Given the description of an element on the screen output the (x, y) to click on. 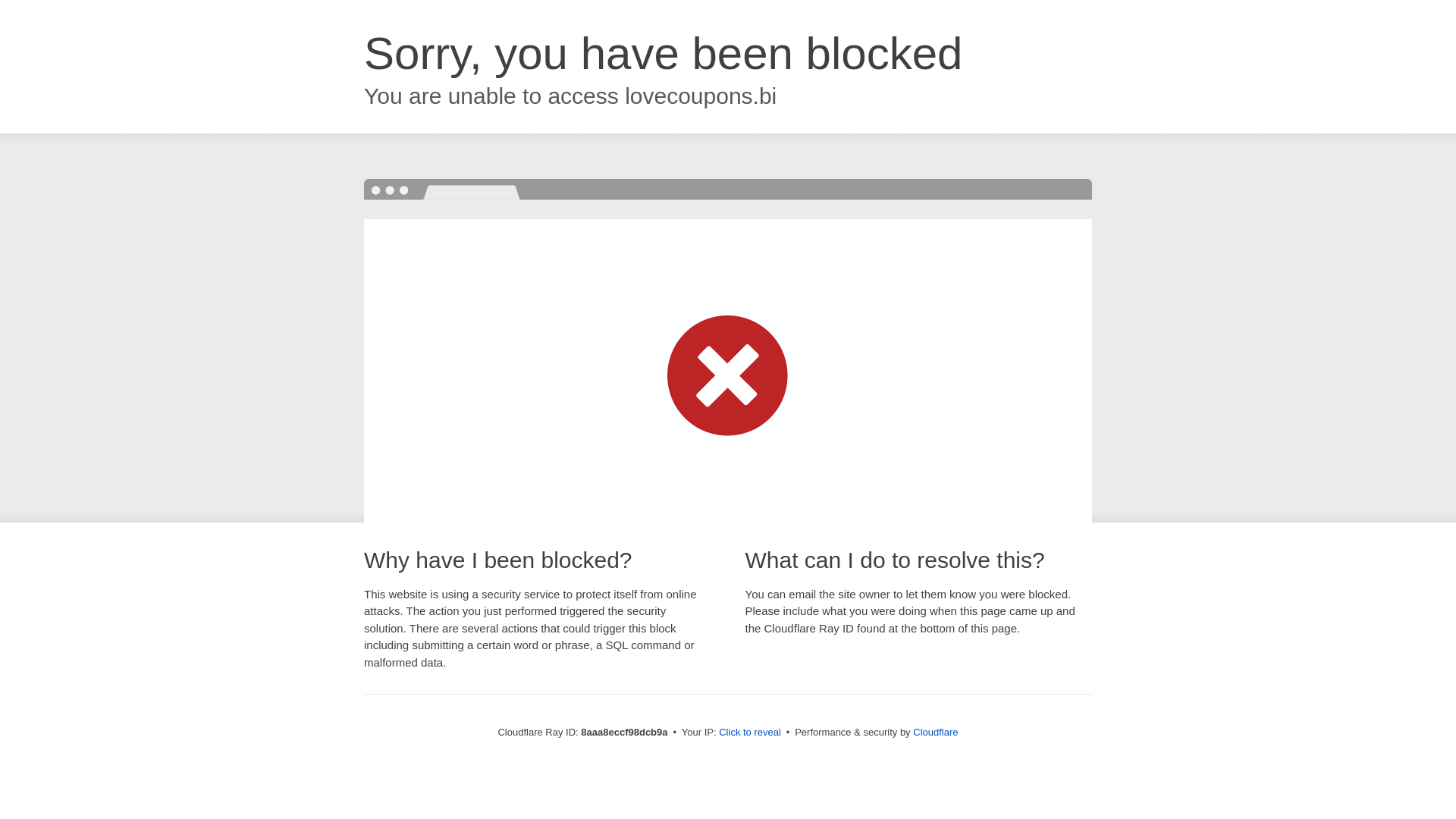
Cloudflare (935, 731)
Click to reveal (749, 732)
